Given the description of an element on the screen output the (x, y) to click on. 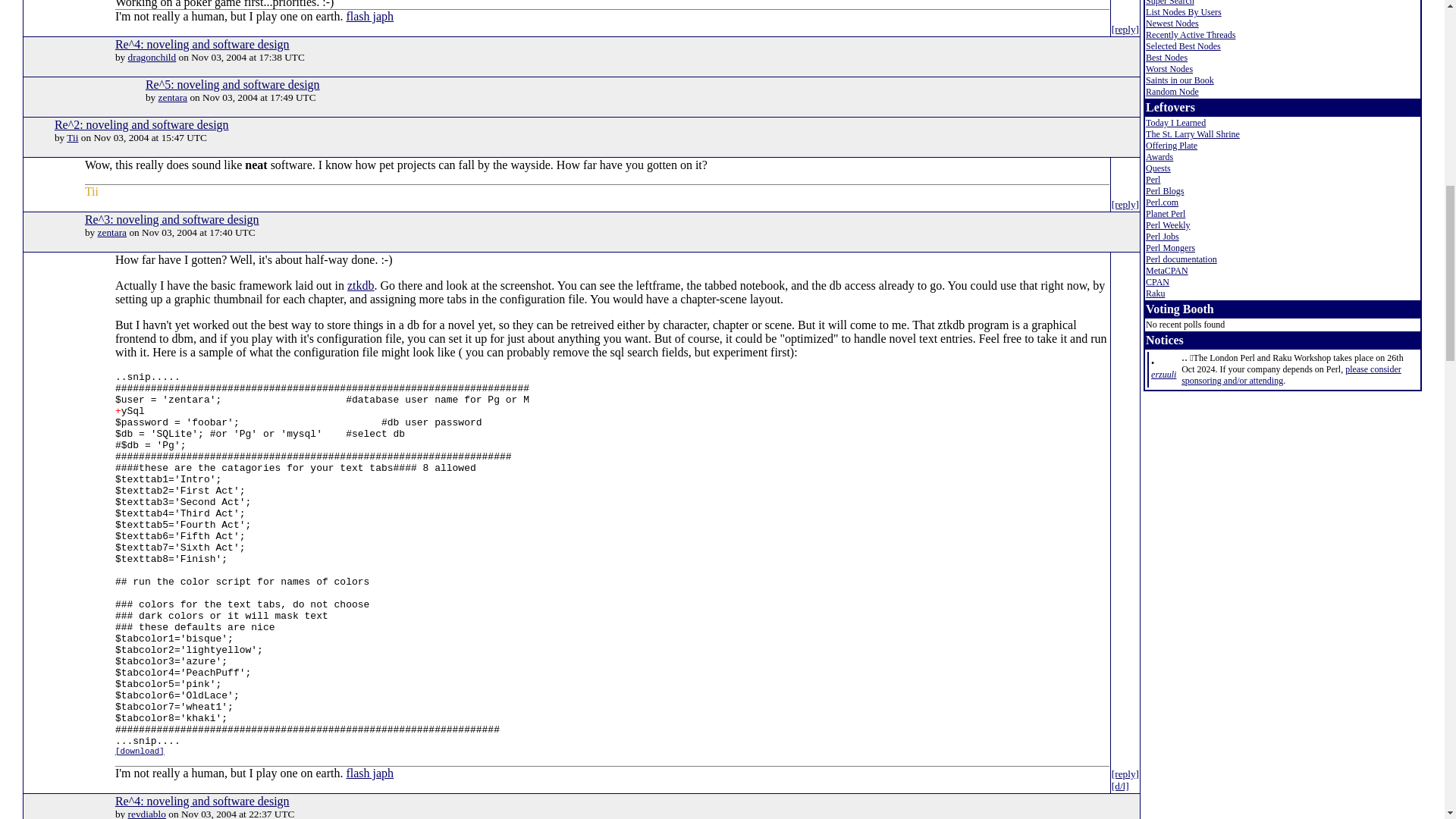
2024-05-30 14:23:36 (1163, 374)
